Given the description of an element on the screen output the (x, y) to click on. 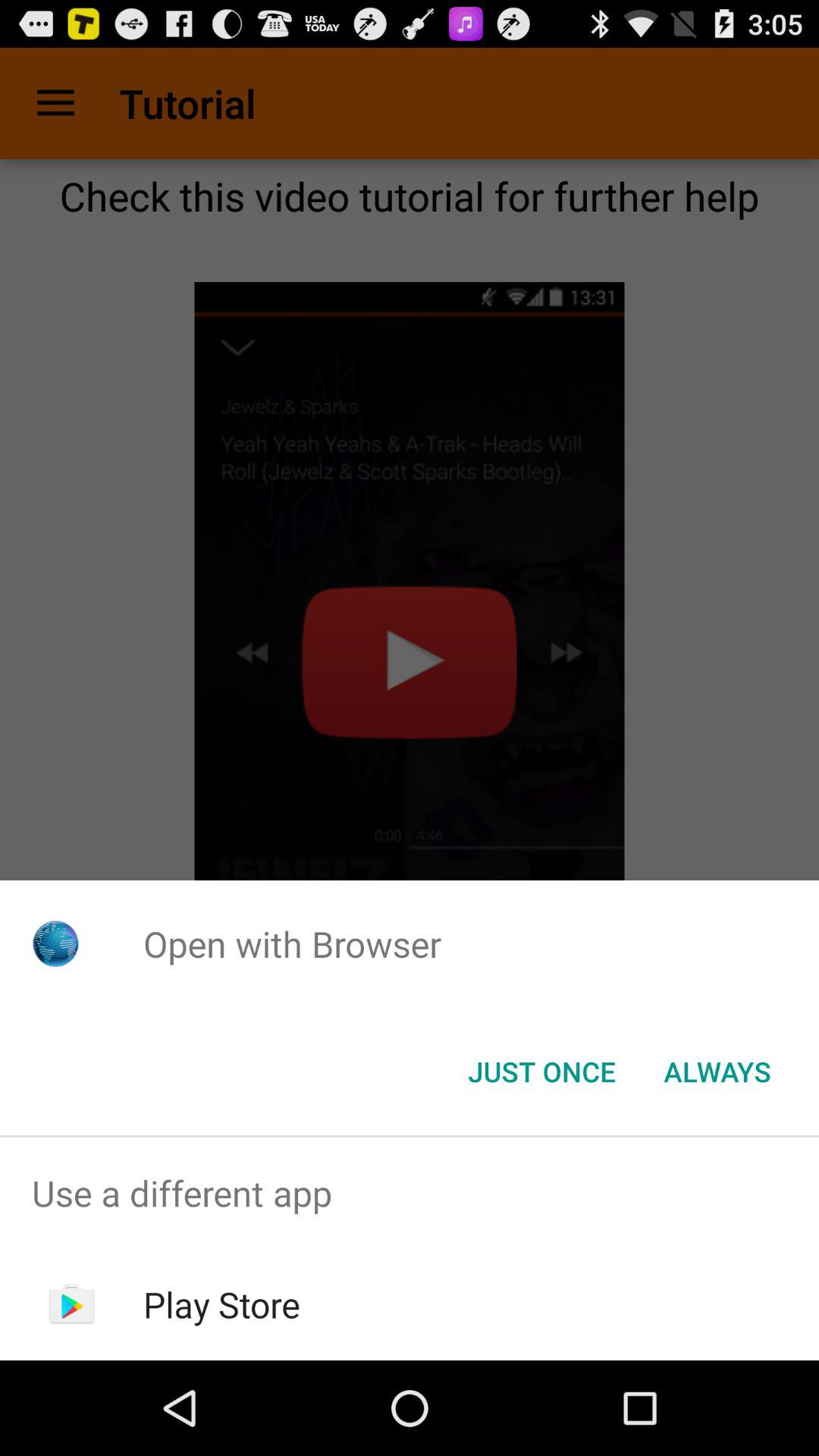
press button next to the just once button (717, 1071)
